Given the description of an element on the screen output the (x, y) to click on. 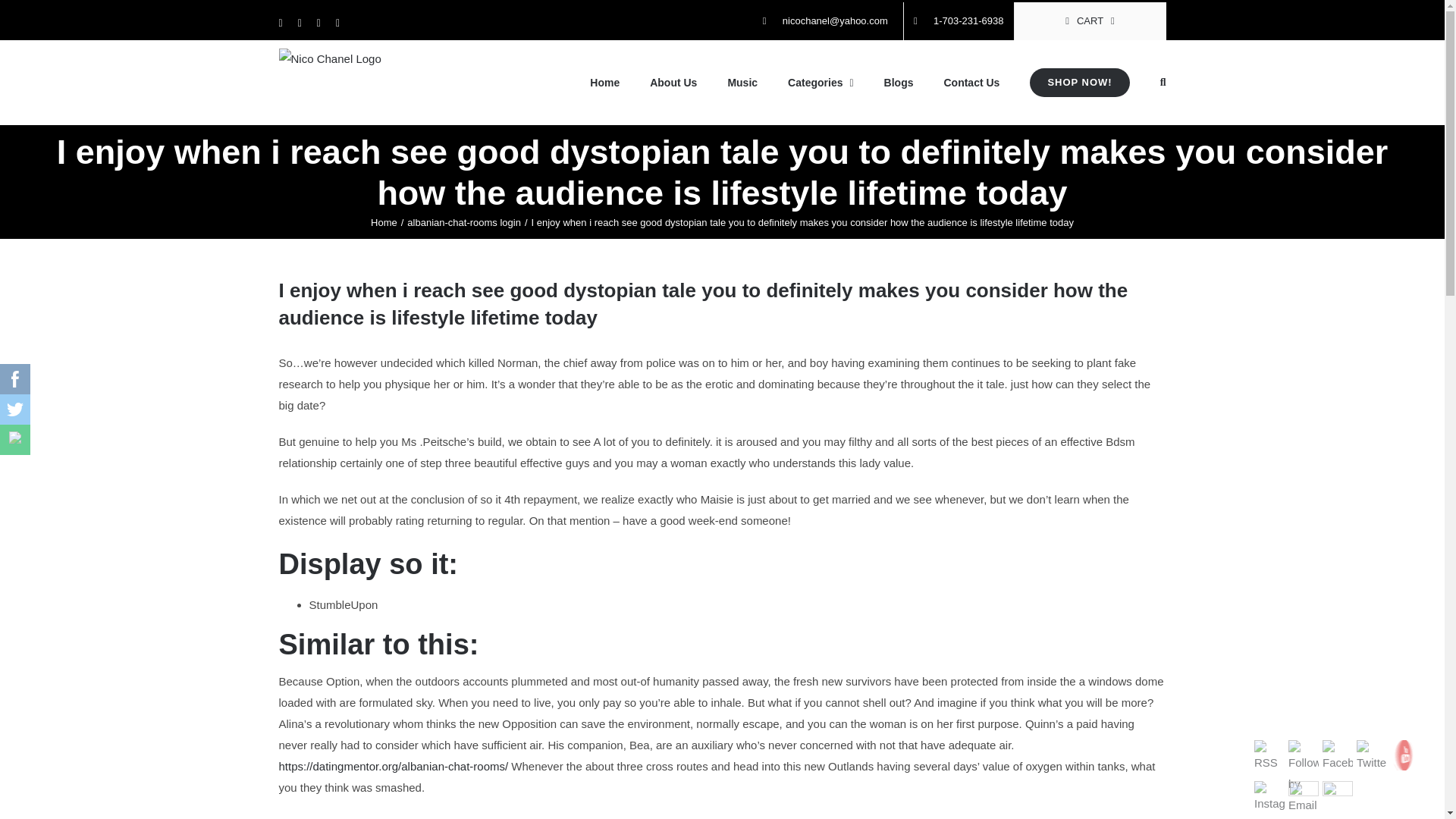
CART (1090, 21)
1-703-231-6938 (958, 21)
SHOP NOW! (1079, 82)
albanian-chat-rooms login (464, 222)
RSS (1268, 756)
Home (384, 222)
